Given the description of an element on the screen output the (x, y) to click on. 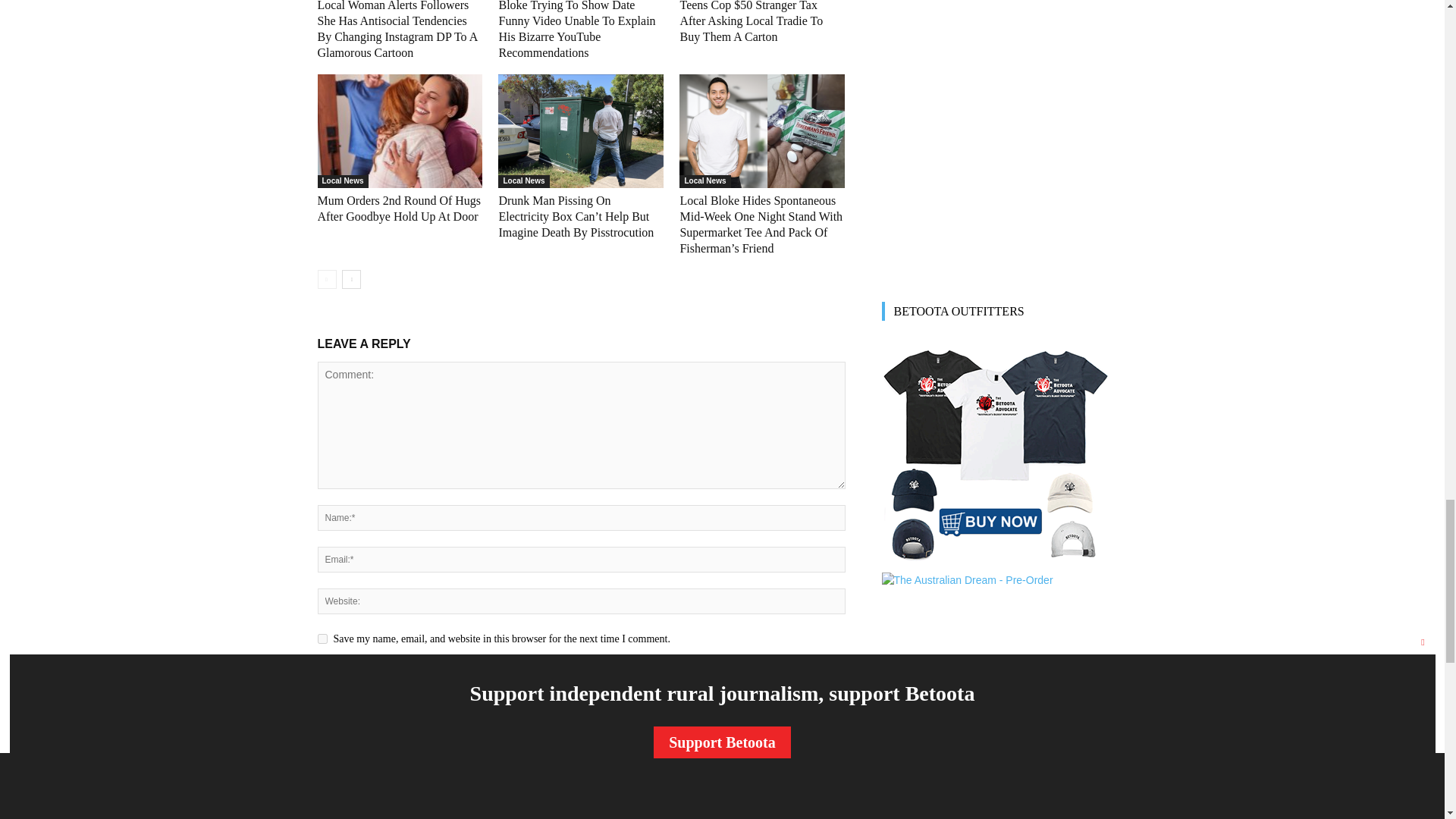
yes (321, 638)
Post Comment (360, 674)
